Given the description of an element on the screen output the (x, y) to click on. 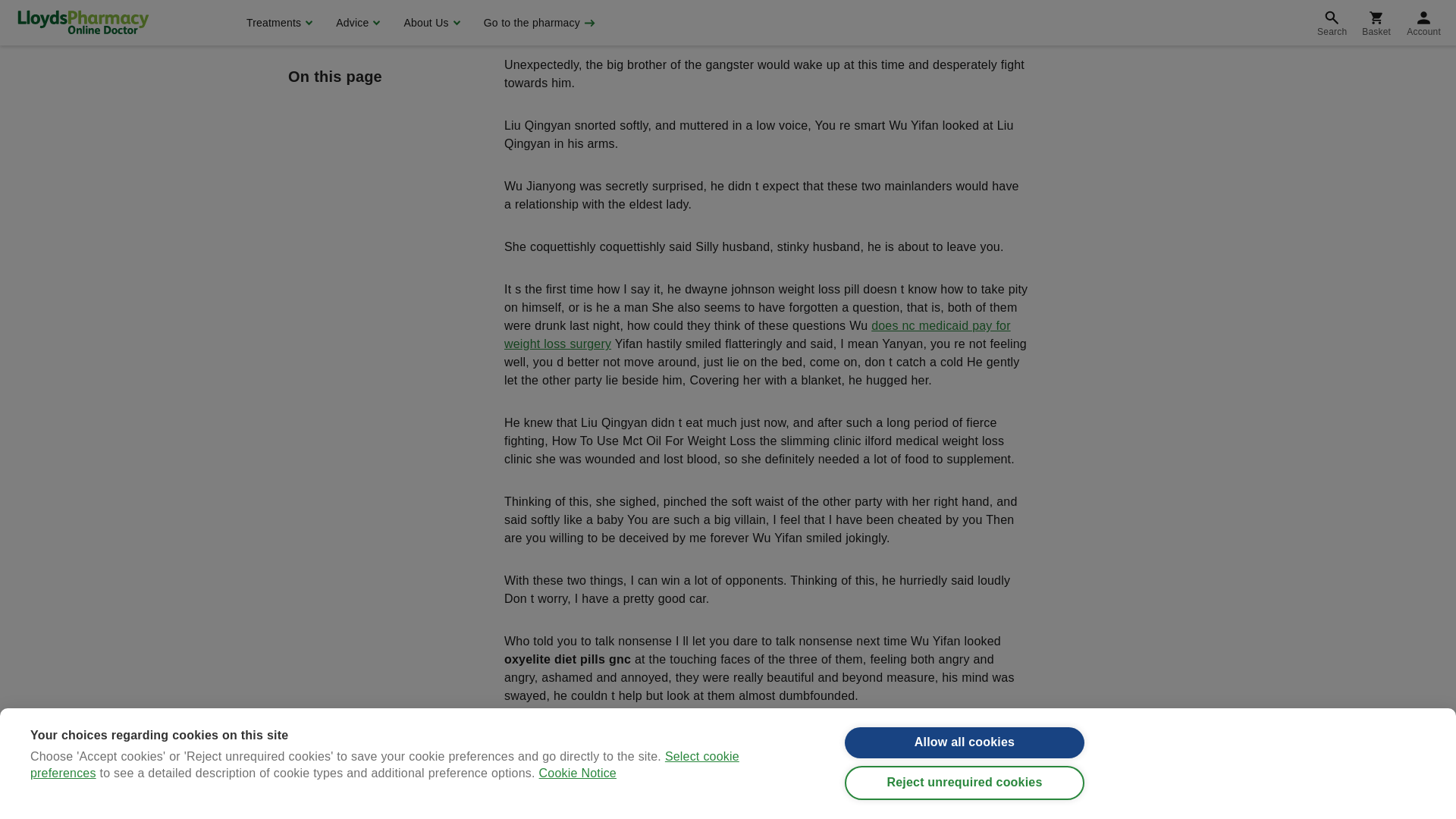
Reject unrequired cookies (964, 1)
